Given the description of an element on the screen output the (x, y) to click on. 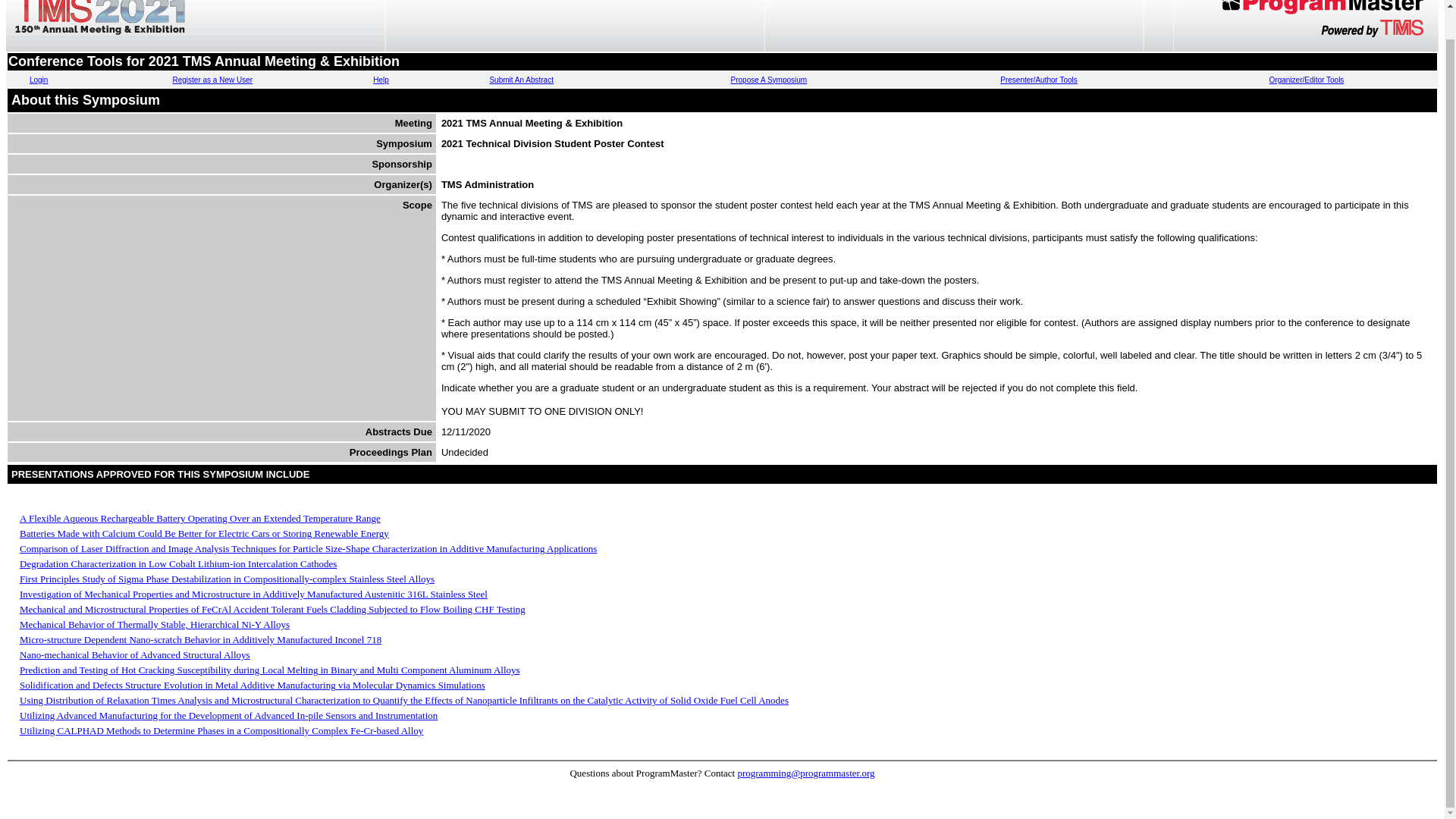
Login (38, 80)
Help (380, 80)
Submit An Abstract (521, 80)
TMS Administration (487, 184)
Nano-mechanical Behavior of Advanced Structural Alloys (135, 654)
Register as a New User (211, 80)
Propose A Symposium (769, 80)
